Given the description of an element on the screen output the (x, y) to click on. 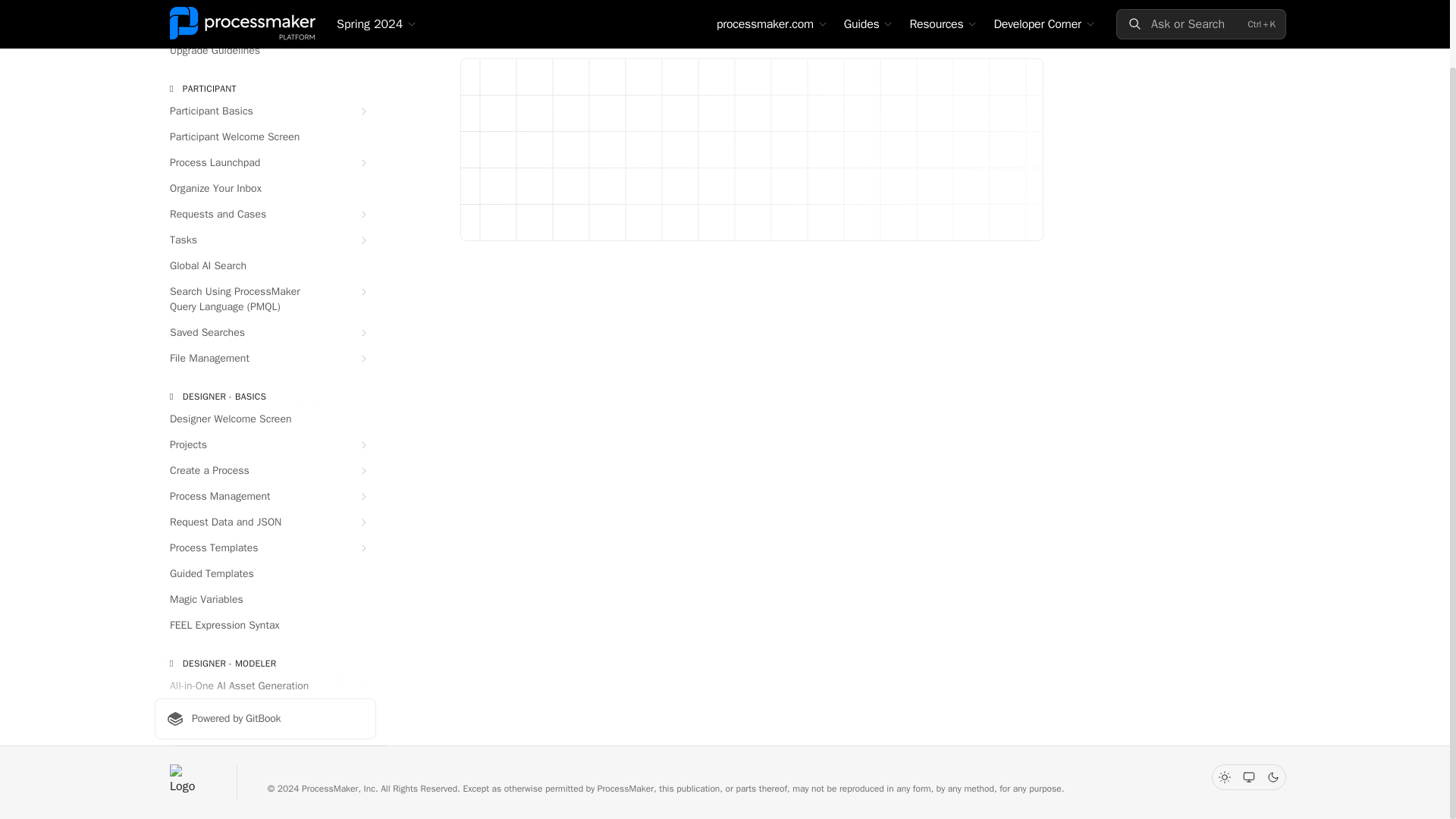
Process Launchpad (264, 162)
Release Notes (264, 24)
Organize Your Inbox (264, 188)
Upgrade Guidelines (264, 50)
Home (264, 5)
Participant Welcome Screen (264, 137)
Participant Basics (264, 111)
